Given the description of an element on the screen output the (x, y) to click on. 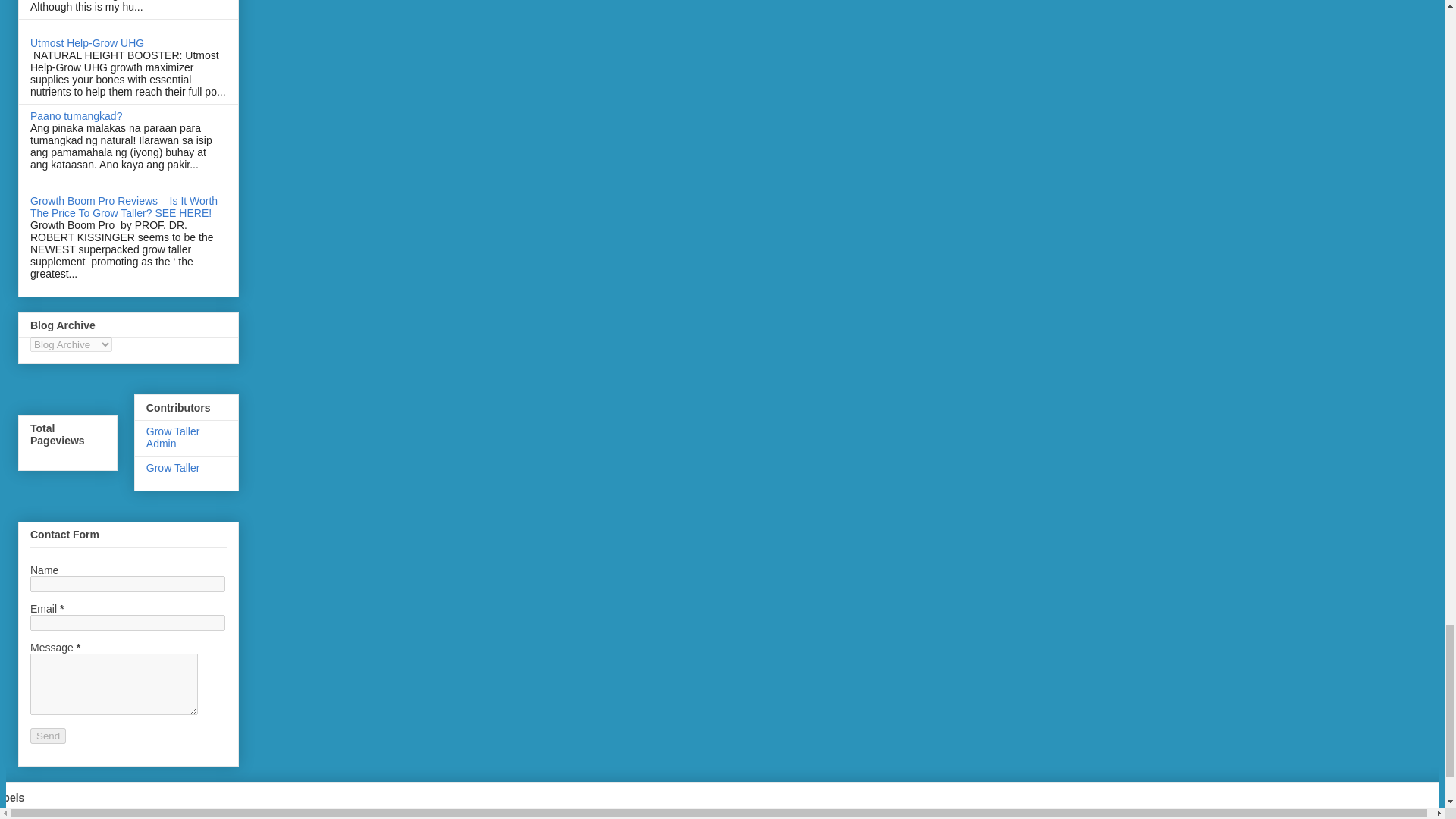
Send (47, 735)
